Given the description of an element on the screen output the (x, y) to click on. 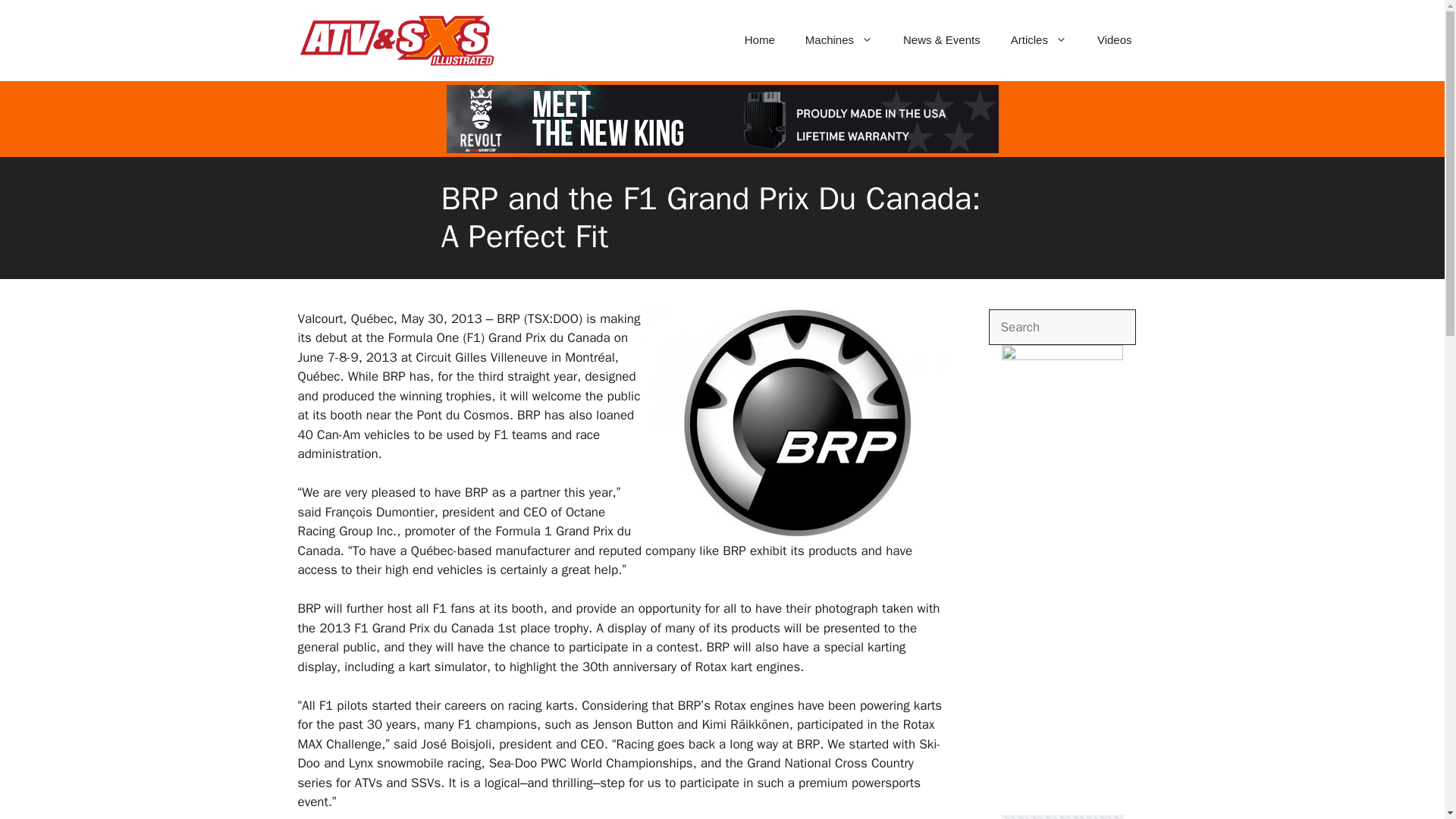
Home (759, 40)
Articles (1038, 40)
Machines (839, 40)
Videos (1114, 40)
